Given the description of an element on the screen output the (x, y) to click on. 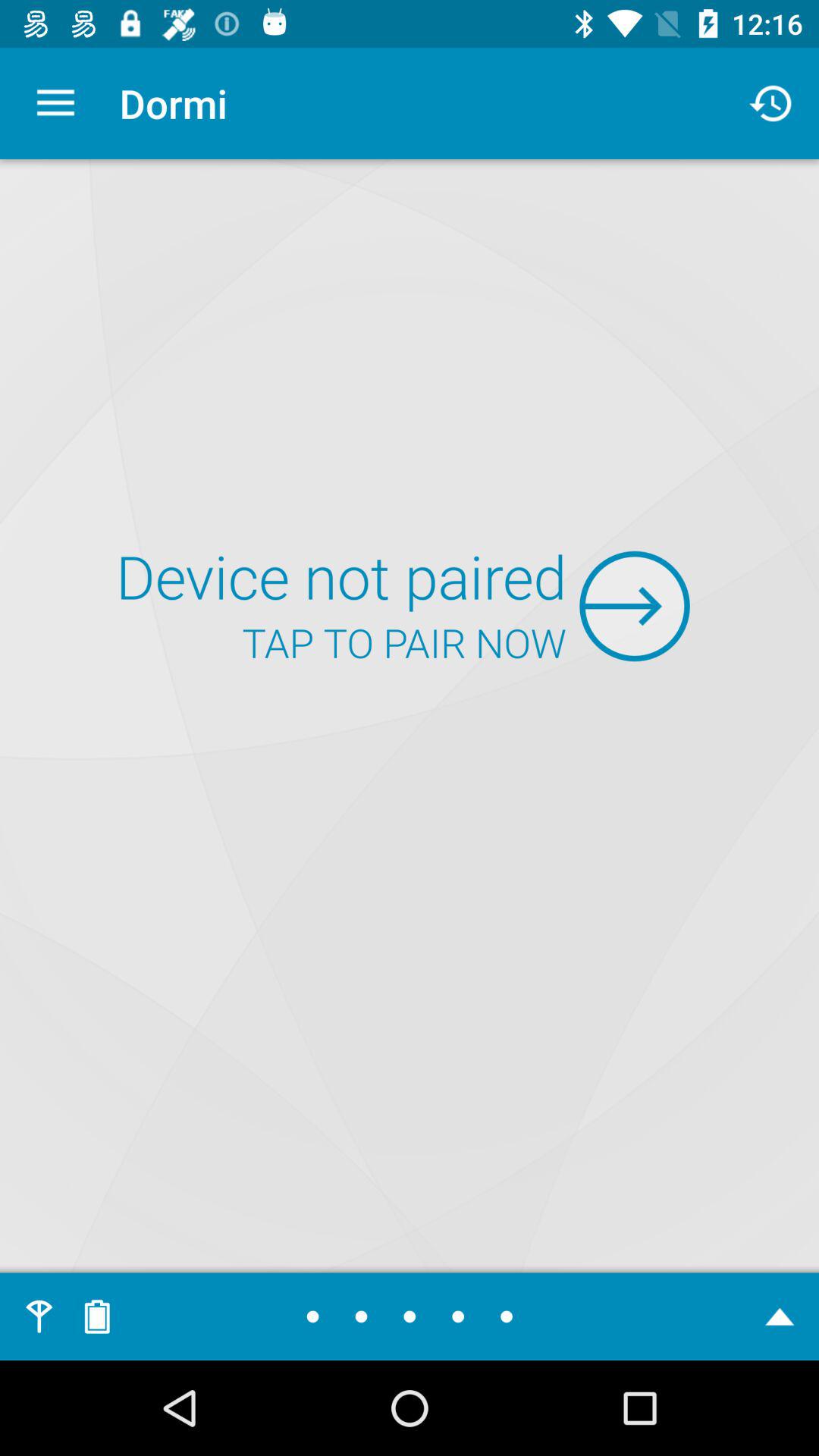
tap app next to the dormi icon (771, 103)
